Given the description of an element on the screen output the (x, y) to click on. 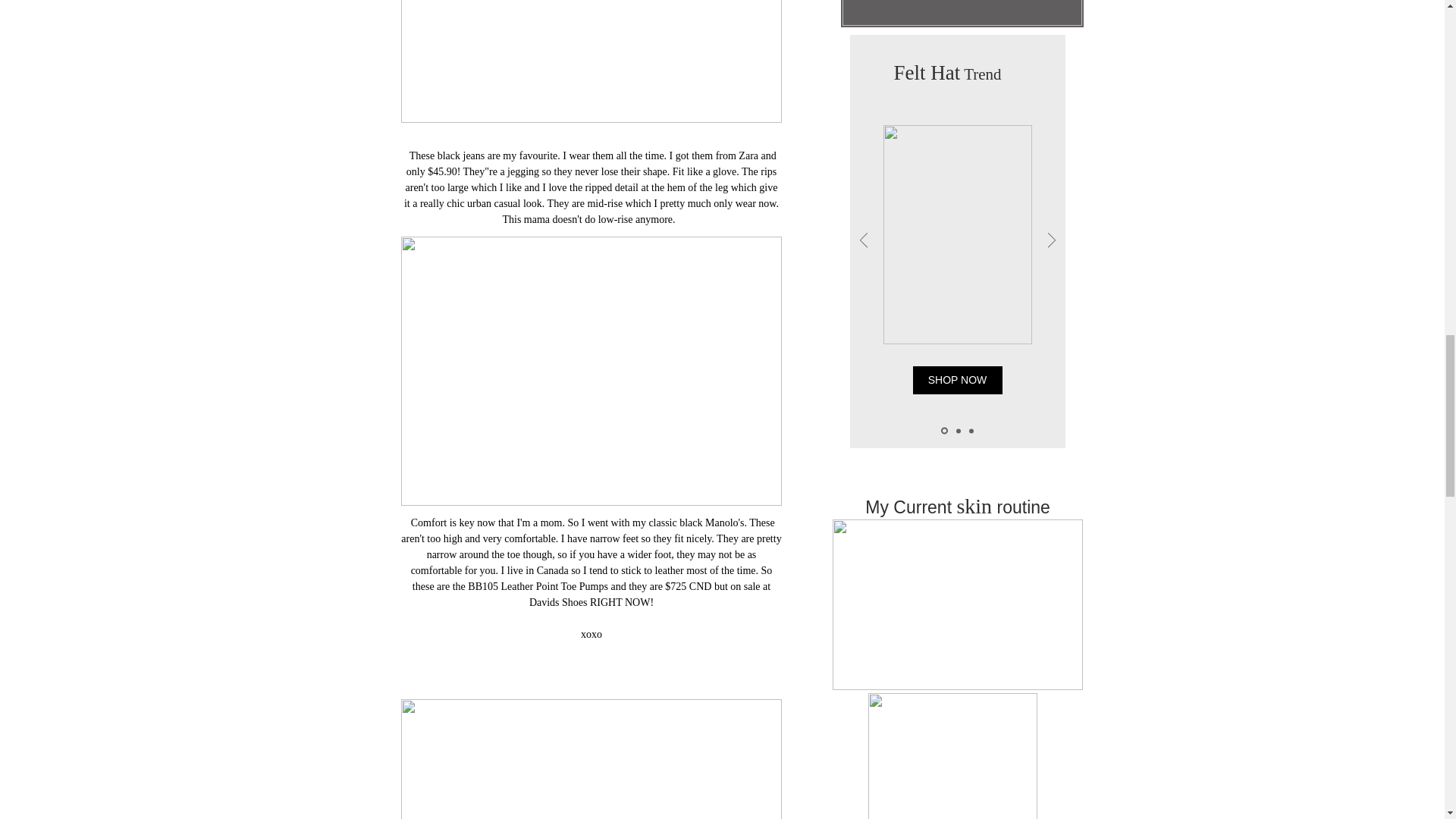
2209138.jpeg (951, 755)
